Given the description of an element on the screen output the (x, y) to click on. 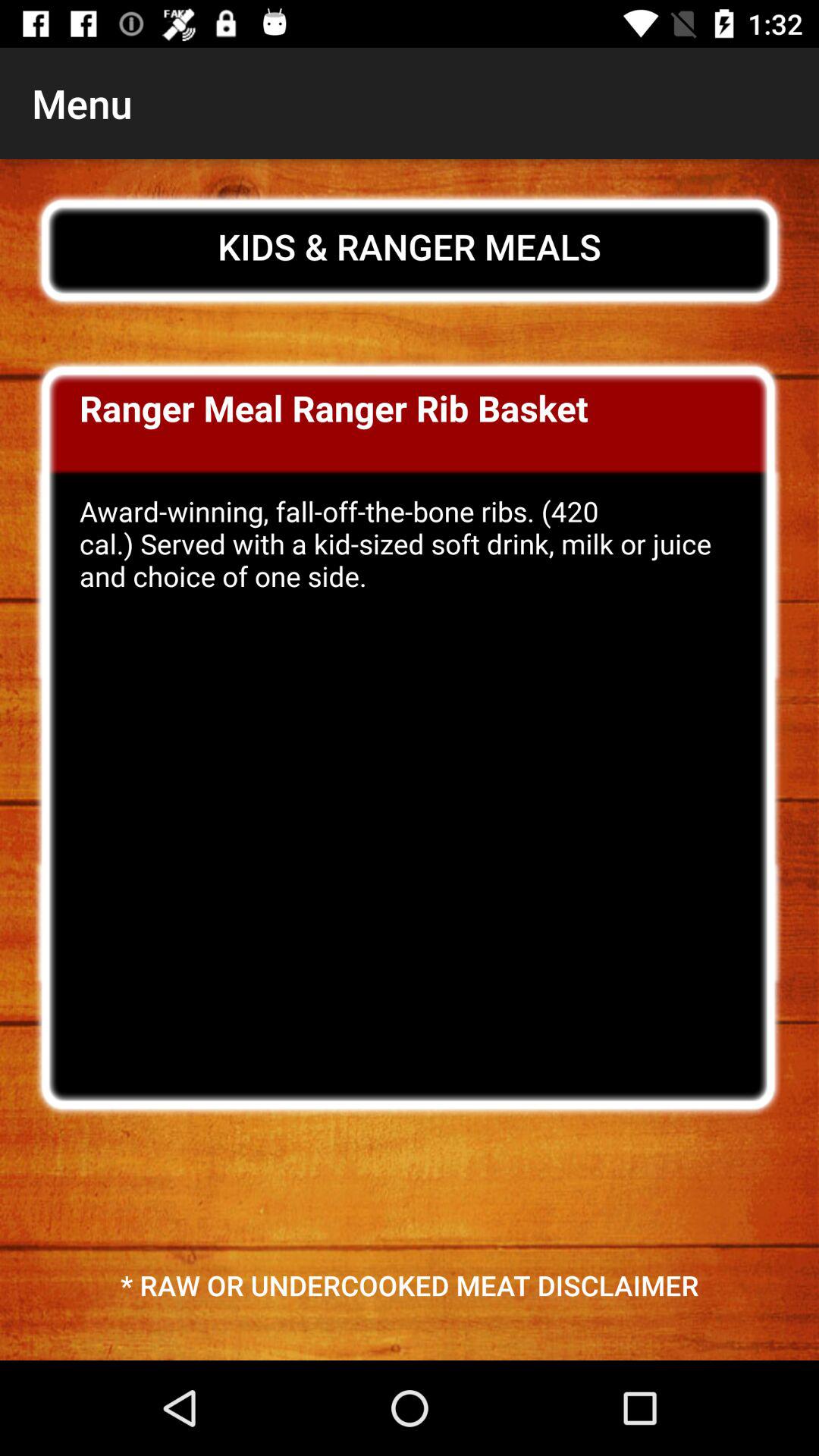
flip to the raw or undercooked icon (409, 1285)
